Given the description of an element on the screen output the (x, y) to click on. 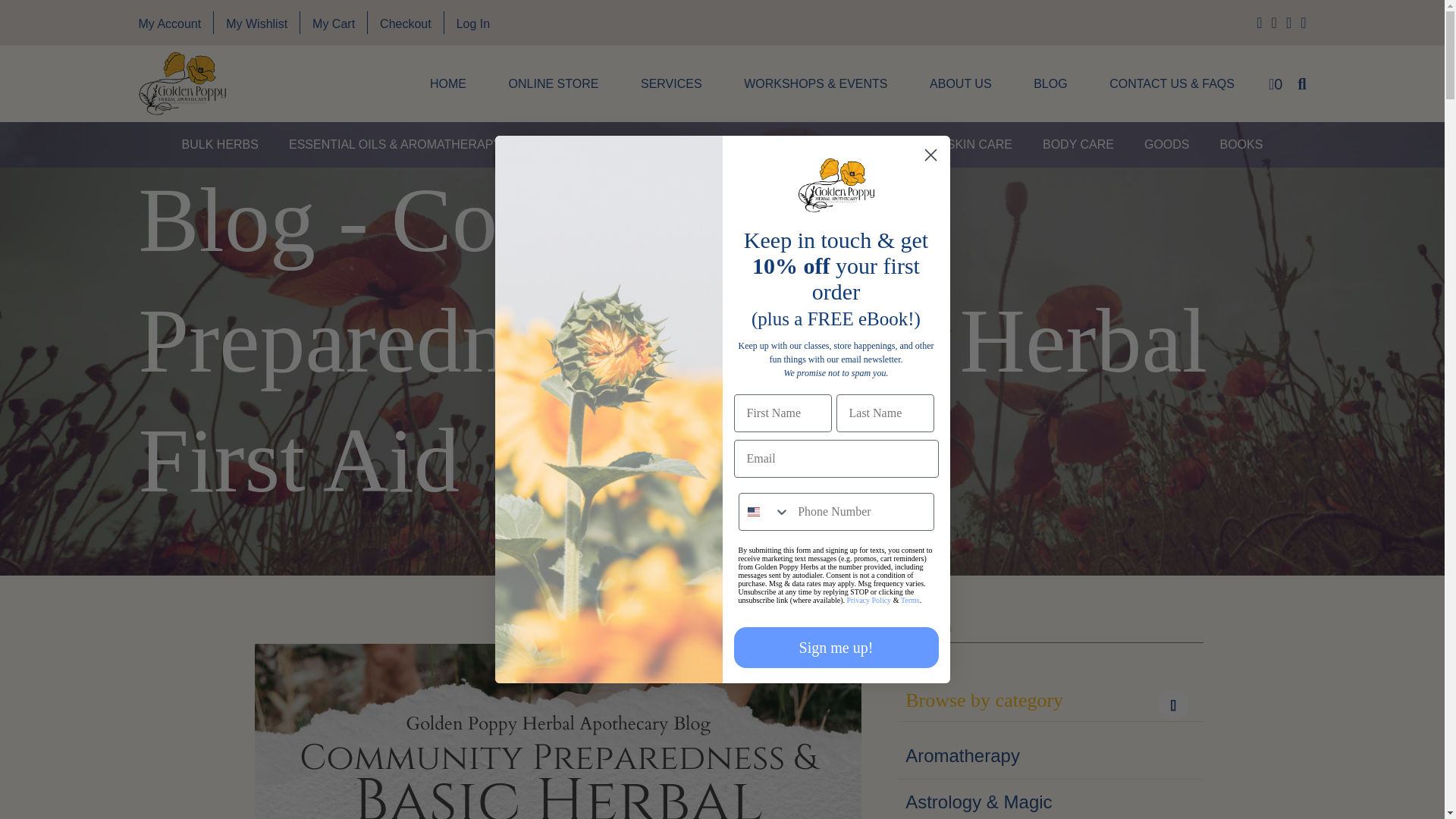
Log In (473, 23)
HERBAL TEA BLENDS (594, 144)
Close dialog 1 (930, 154)
My Cart (334, 23)
Checkout (405, 23)
SERVICES (670, 83)
ONLINE STORE (553, 83)
My Wishlist (255, 23)
ABOUT US (960, 83)
View all posts in Aromatherapy (1051, 755)
My Account (169, 23)
BULK HERBS (220, 144)
